Given the description of an element on the screen output the (x, y) to click on. 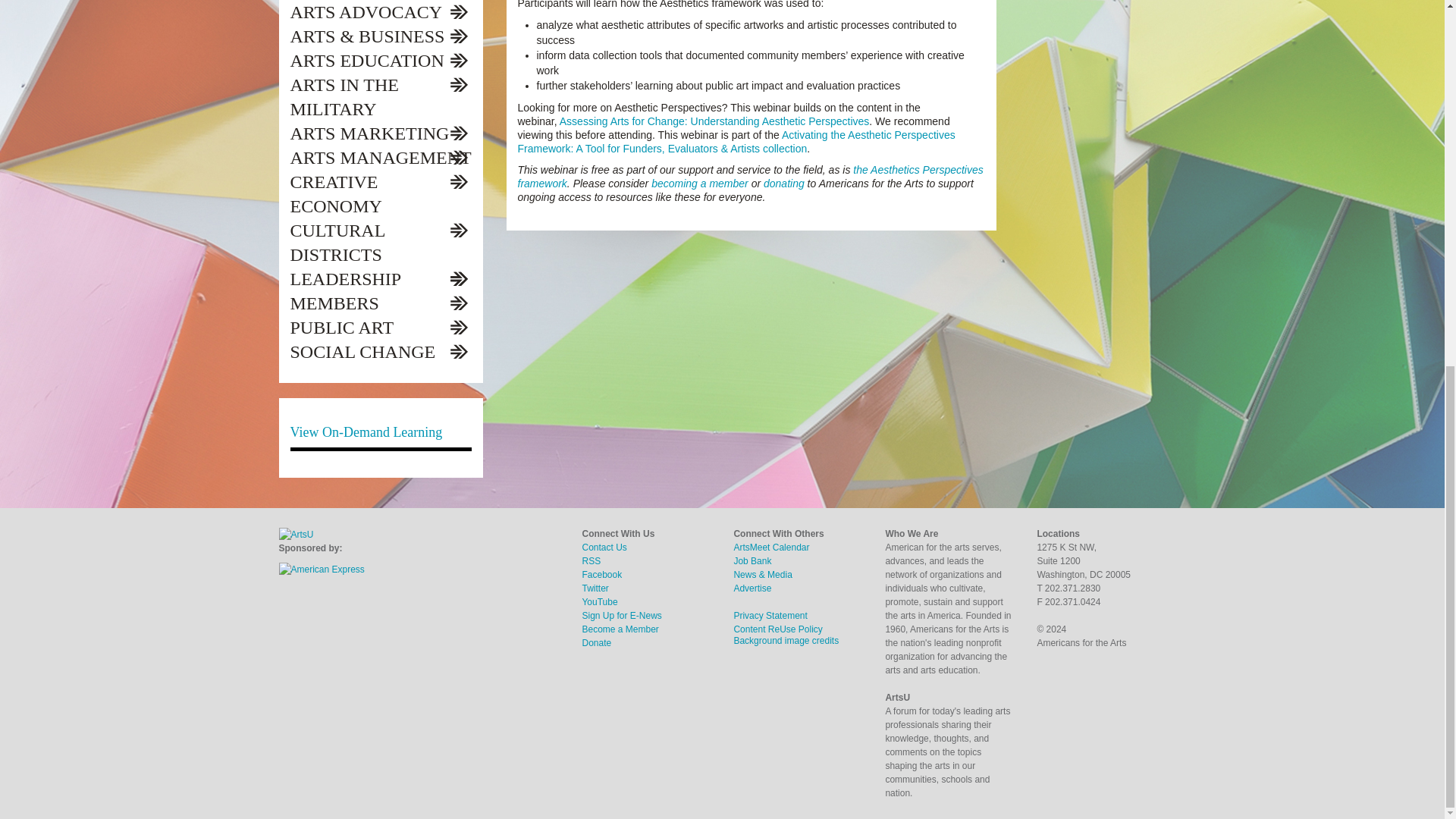
donating (783, 183)
the Aesthetics Perspectives framework (749, 176)
becoming a member (699, 183)
